Given the description of an element on the screen output the (x, y) to click on. 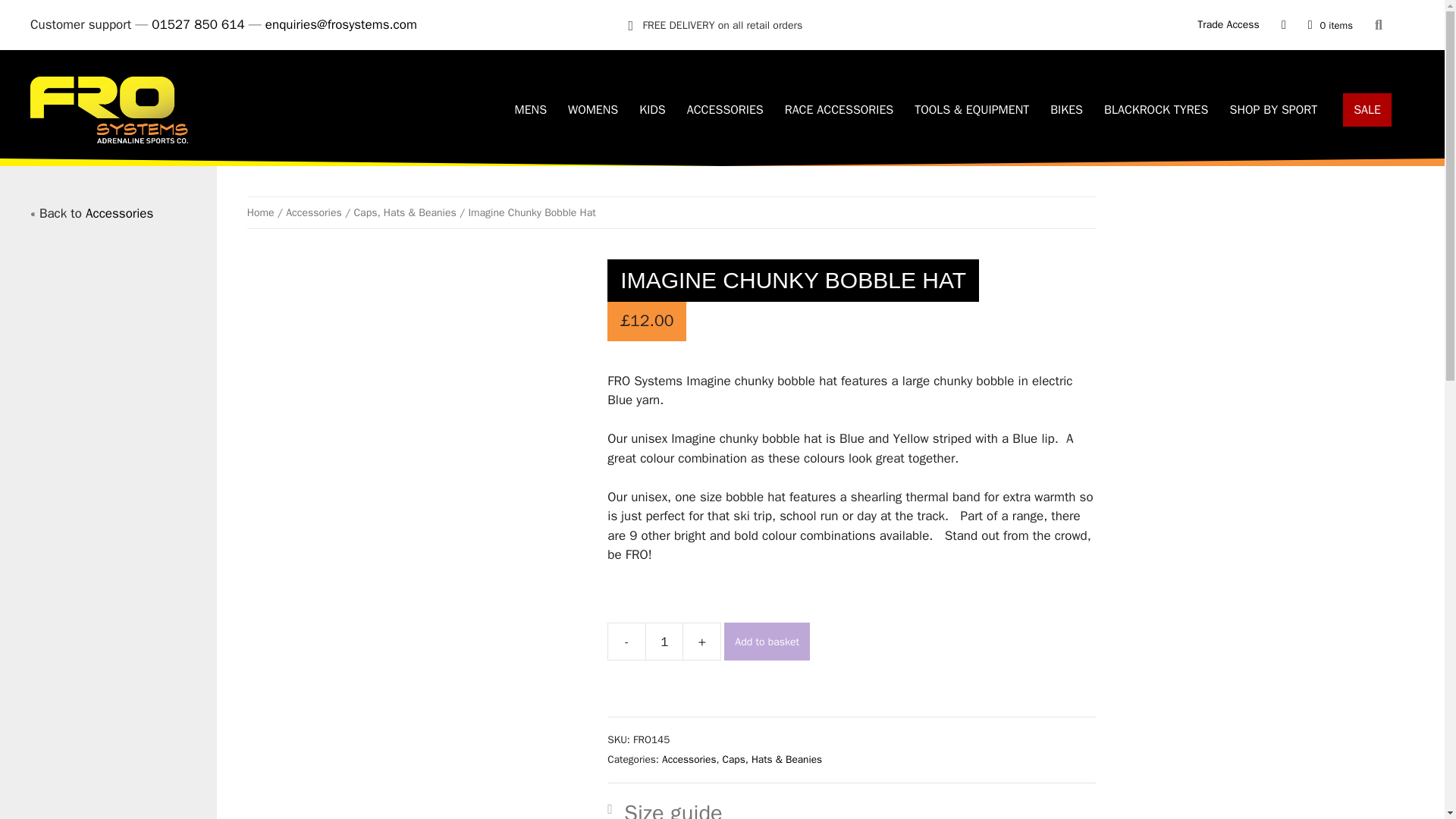
01527 850 614 (197, 24)
Start shopping (1329, 24)
FRO Systems (108, 109)
Search (1381, 24)
Trade Access (1227, 24)
MENS (530, 109)
0 items (1329, 24)
FREE DELIVERY on all retail orders (715, 25)
KIDS (652, 109)
ACCESSORIES (725, 109)
